Given the description of an element on the screen output the (x, y) to click on. 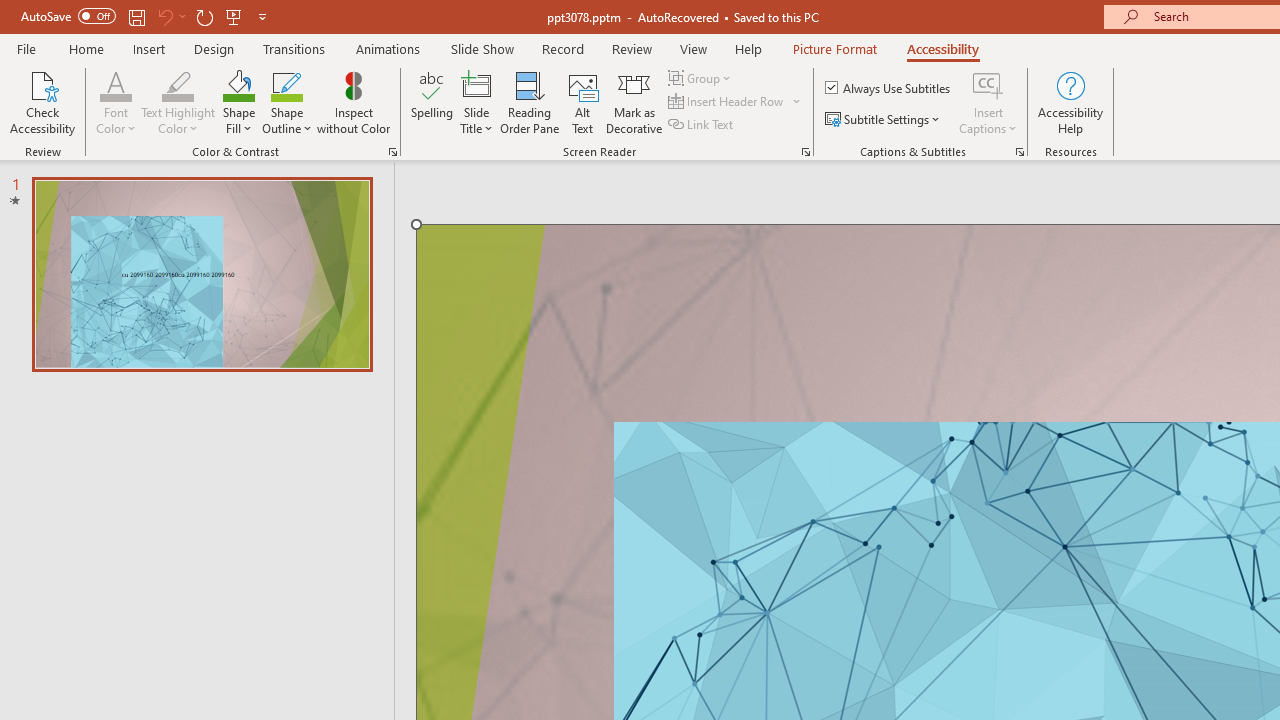
Always Use Subtitles (889, 87)
Link Text (702, 124)
Captions & Subtitles (1019, 151)
Color & Contrast (392, 151)
